Given the description of an element on the screen output the (x, y) to click on. 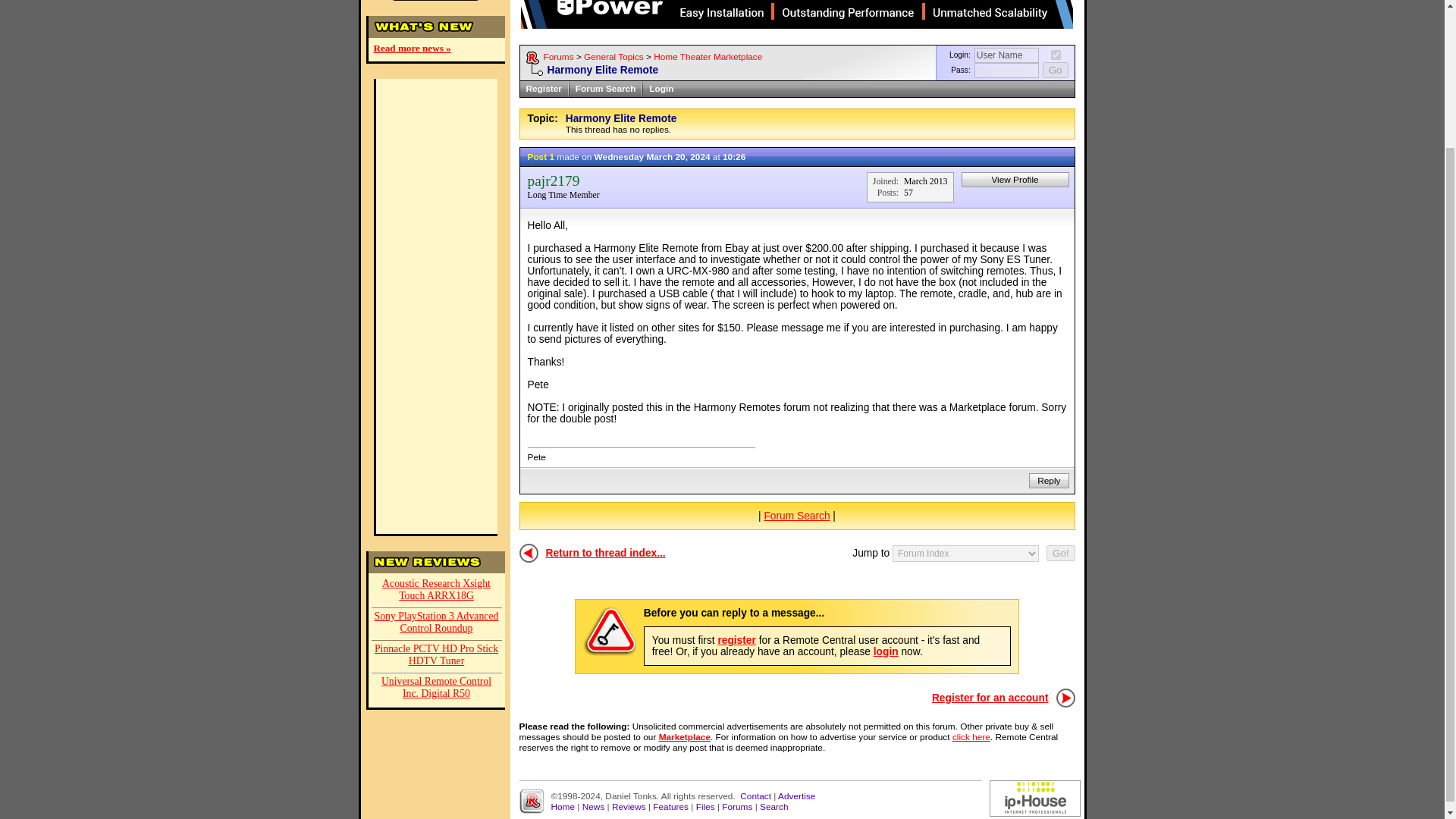
Just Add Power: HDMI Over IP (797, 14)
Reply (1048, 480)
Return to thread index... (605, 552)
Go! (1060, 553)
Universal Remote Control Inc. Digital R50 (436, 688)
Forums (558, 56)
General Topics (613, 56)
Forum Search (795, 515)
Contact (755, 796)
Go (1055, 69)
Forum Search (605, 88)
Remember me (1056, 54)
Protected Feature (609, 631)
Home Theater Marketplace (707, 56)
